Given the description of an element on the screen output the (x, y) to click on. 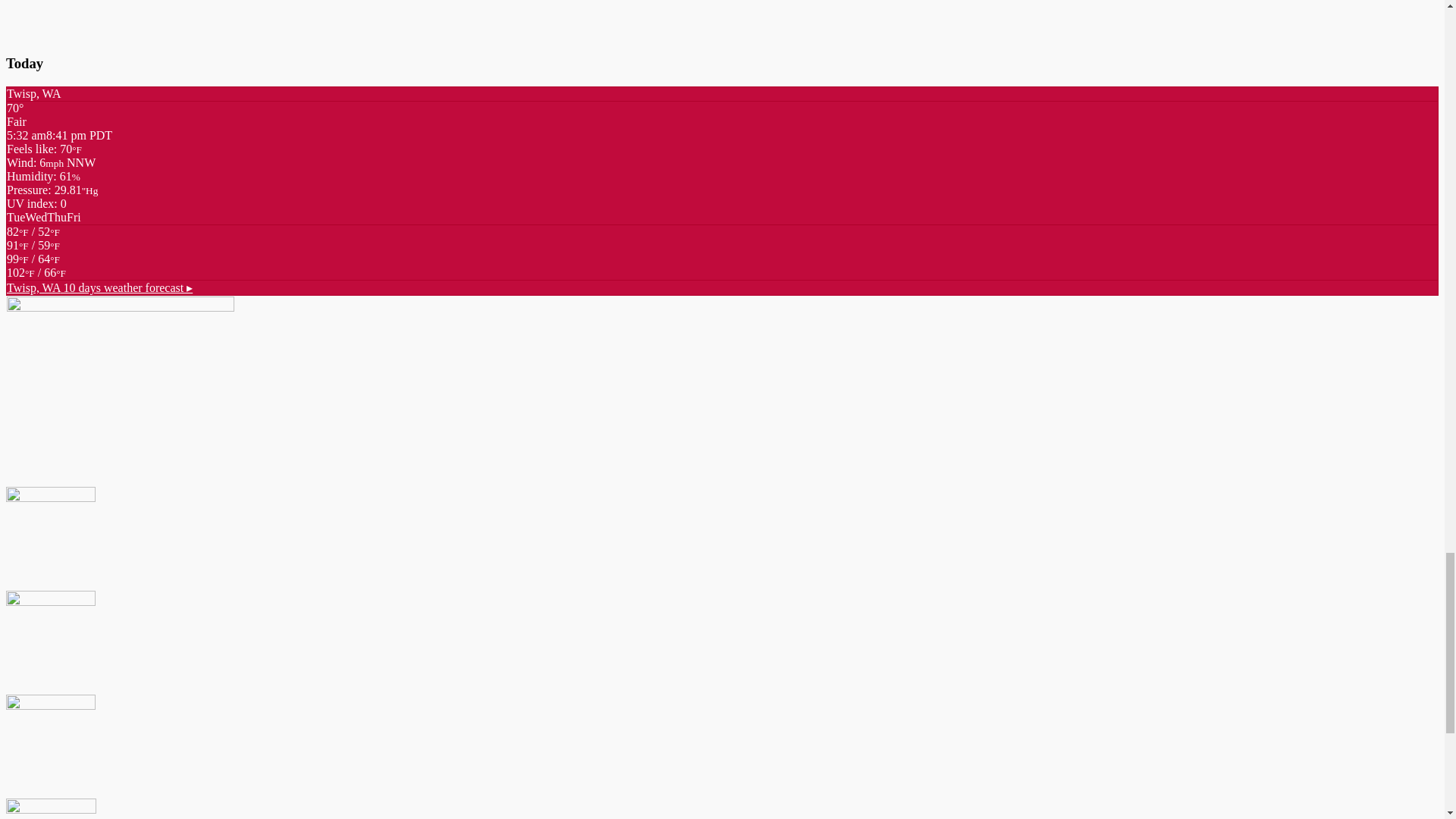
Mostly Sunny (36, 272)
Twisp, WA - 10 days weather forecast (99, 287)
Sunny (33, 265)
Partly Cloudy (33, 238)
Sunny (33, 252)
